Given the description of an element on the screen output the (x, y) to click on. 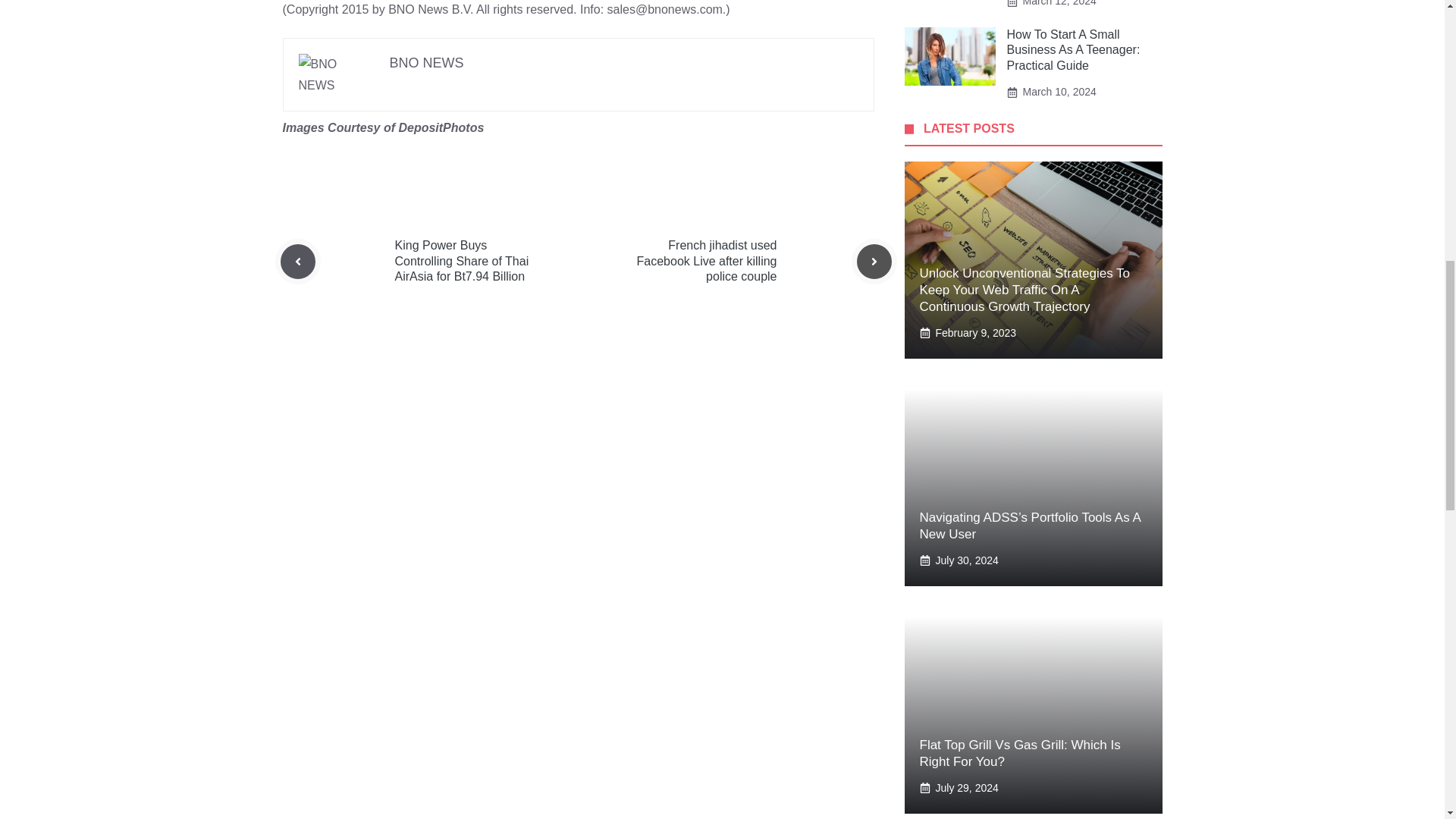
Flat Top Grill Vs Gas Grill: Which Is Right For You? (1018, 753)
Scroll back to top (1406, 720)
How To Start A Small Business As A Teenager: Practical Guide (1073, 49)
BNO NEWS (427, 62)
DepositPhotos (440, 127)
